Given the description of an element on the screen output the (x, y) to click on. 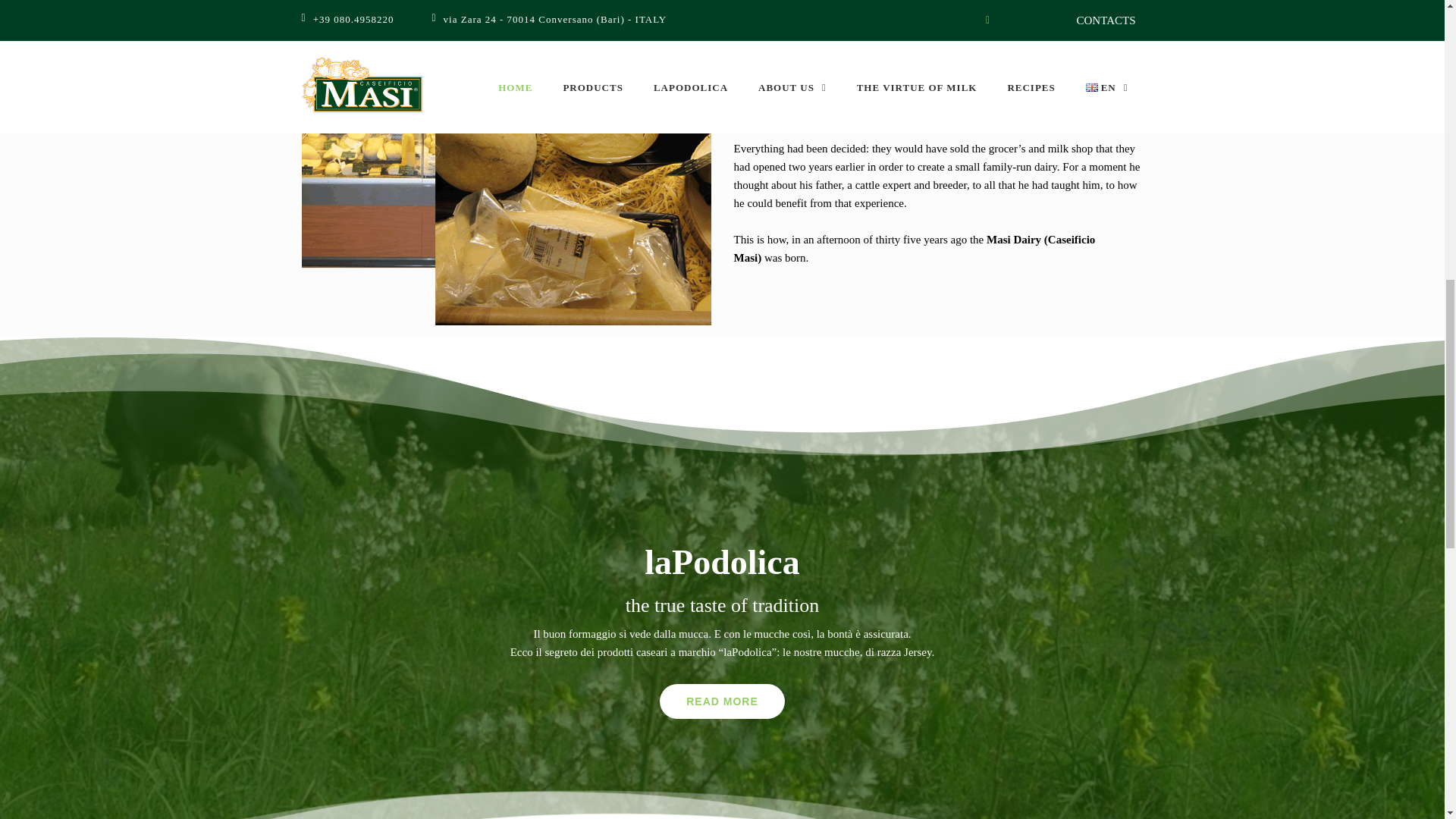
READ MORE (721, 701)
